Given the description of an element on the screen output the (x, y) to click on. 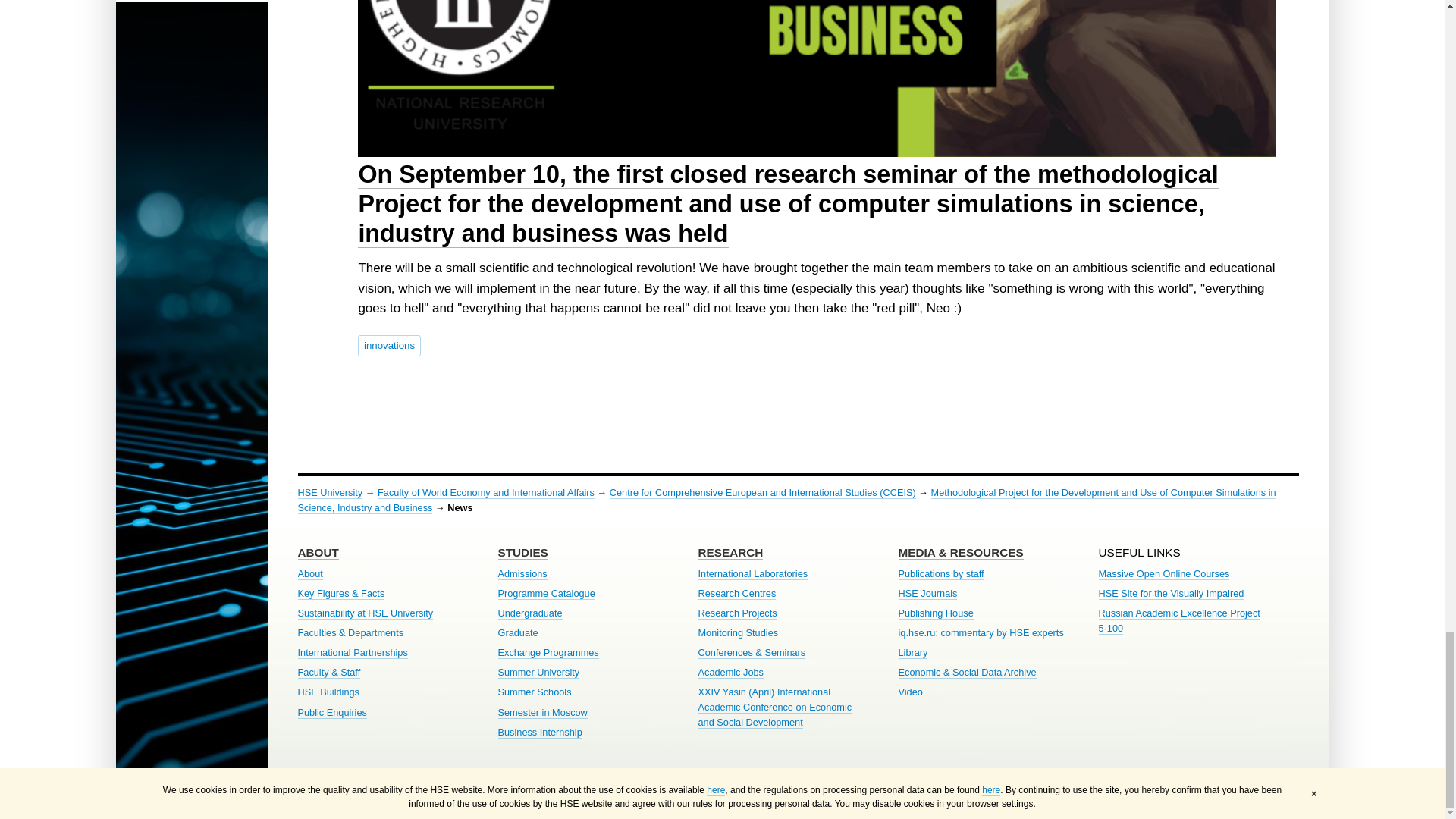
innovations  (389, 345)
